Given the description of an element on the screen output the (x, y) to click on. 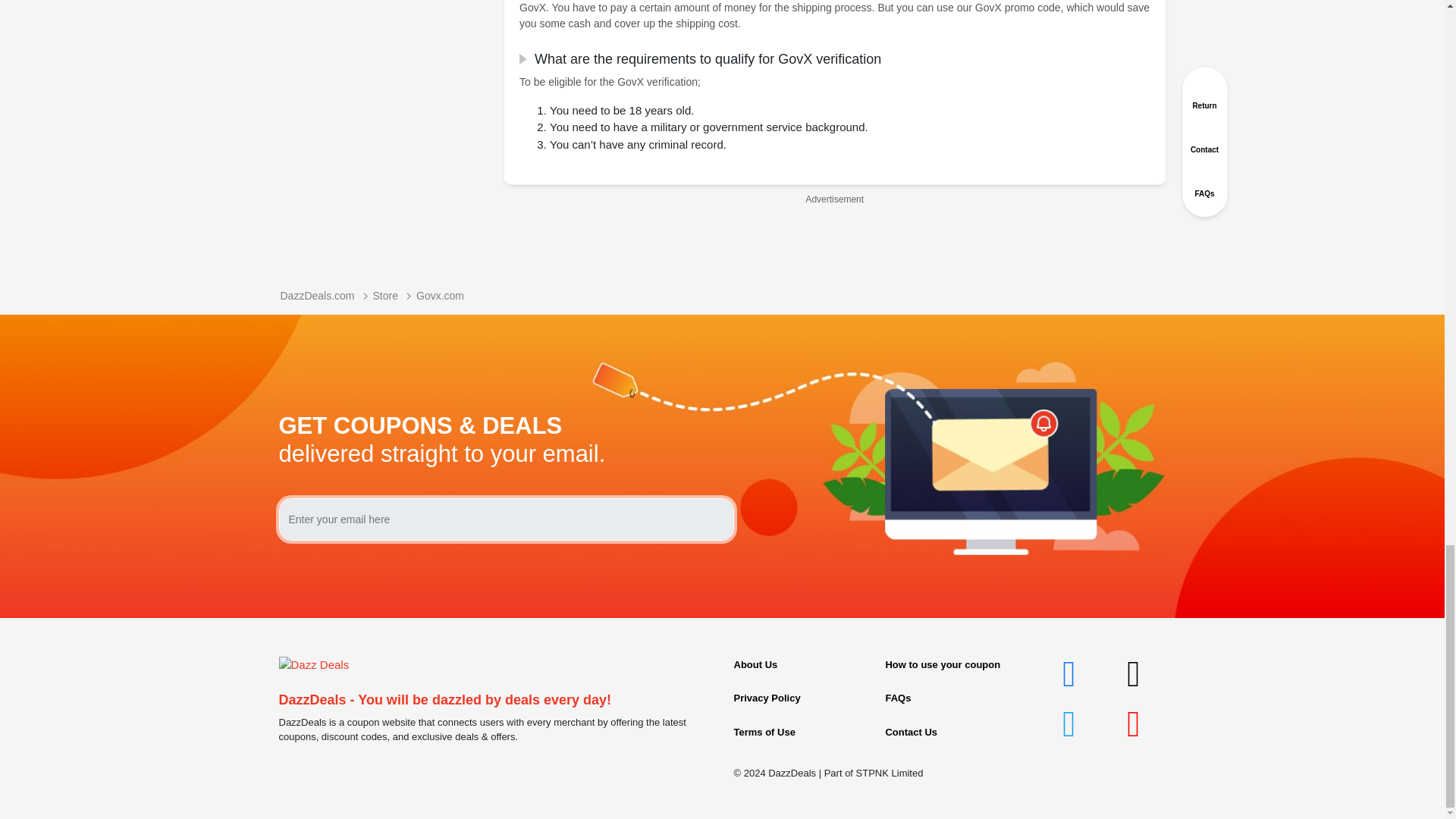
Privacy Policy (766, 697)
about us (755, 664)
Dazzdeals.CoM (314, 663)
